Given the description of an element on the screen output the (x, y) to click on. 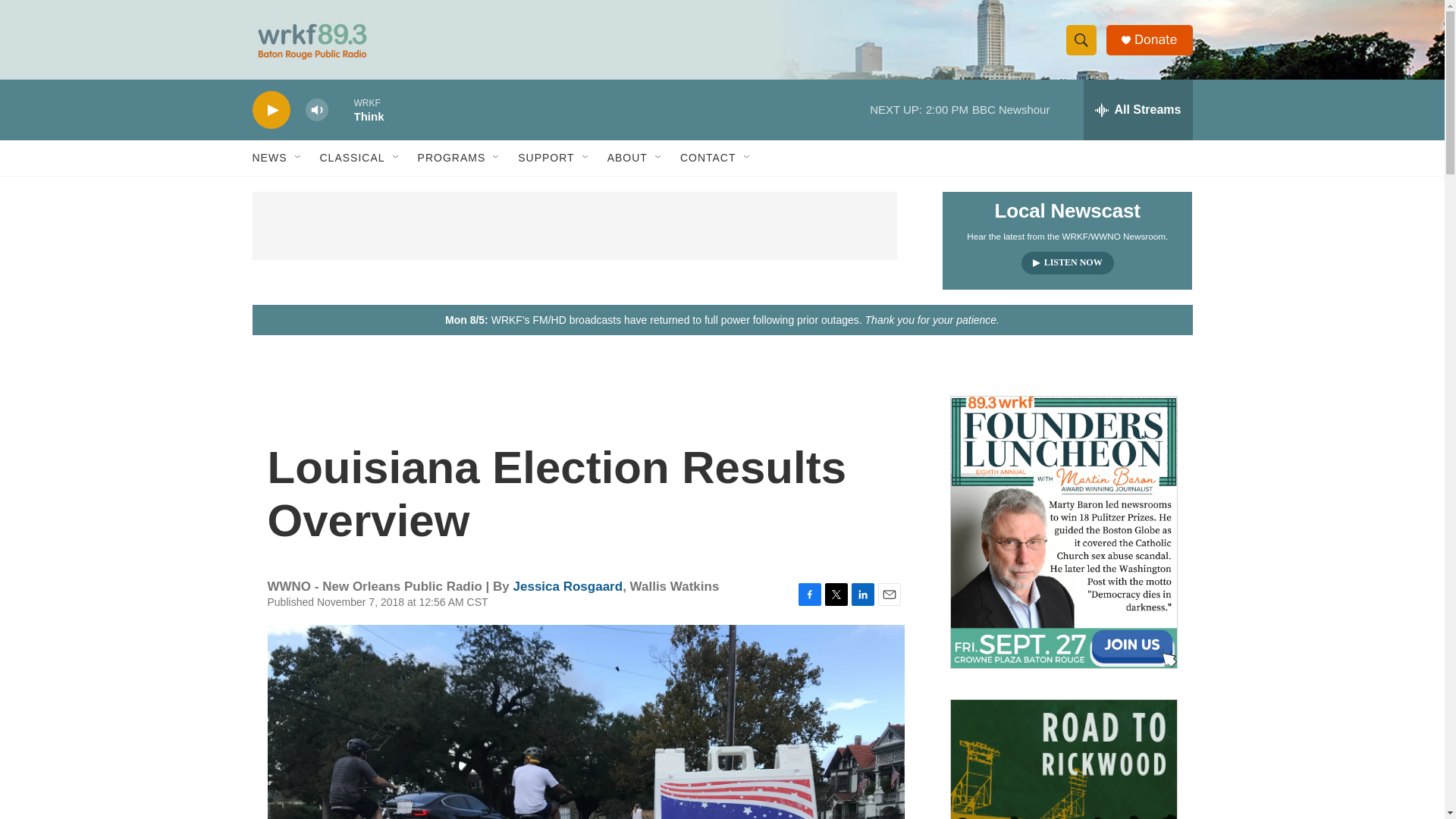
3rd party ad content (574, 225)
